Given the description of an element on the screen output the (x, y) to click on. 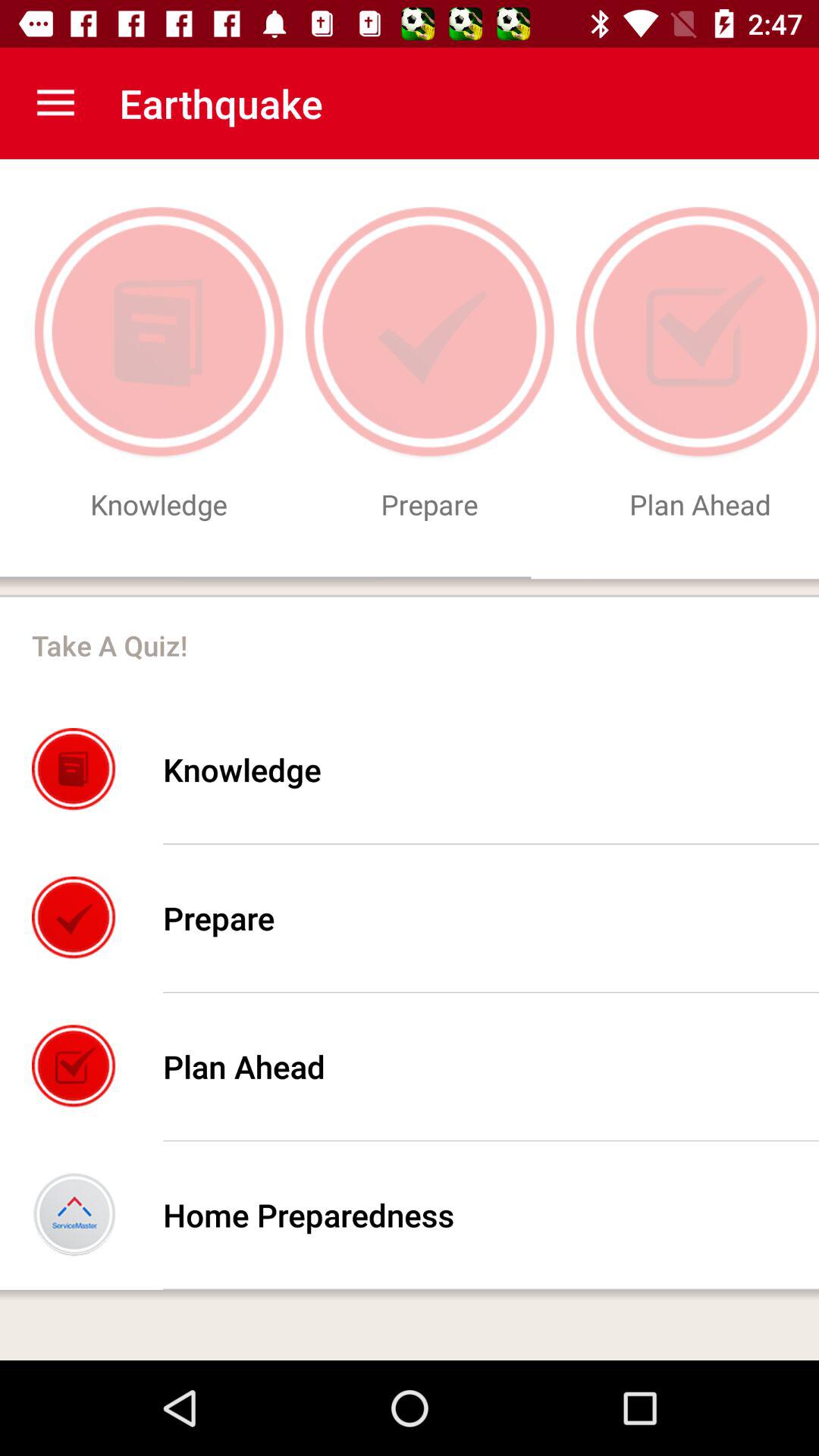
open the icon to the left of the earthquake app (55, 103)
